Given the description of an element on the screen output the (x, y) to click on. 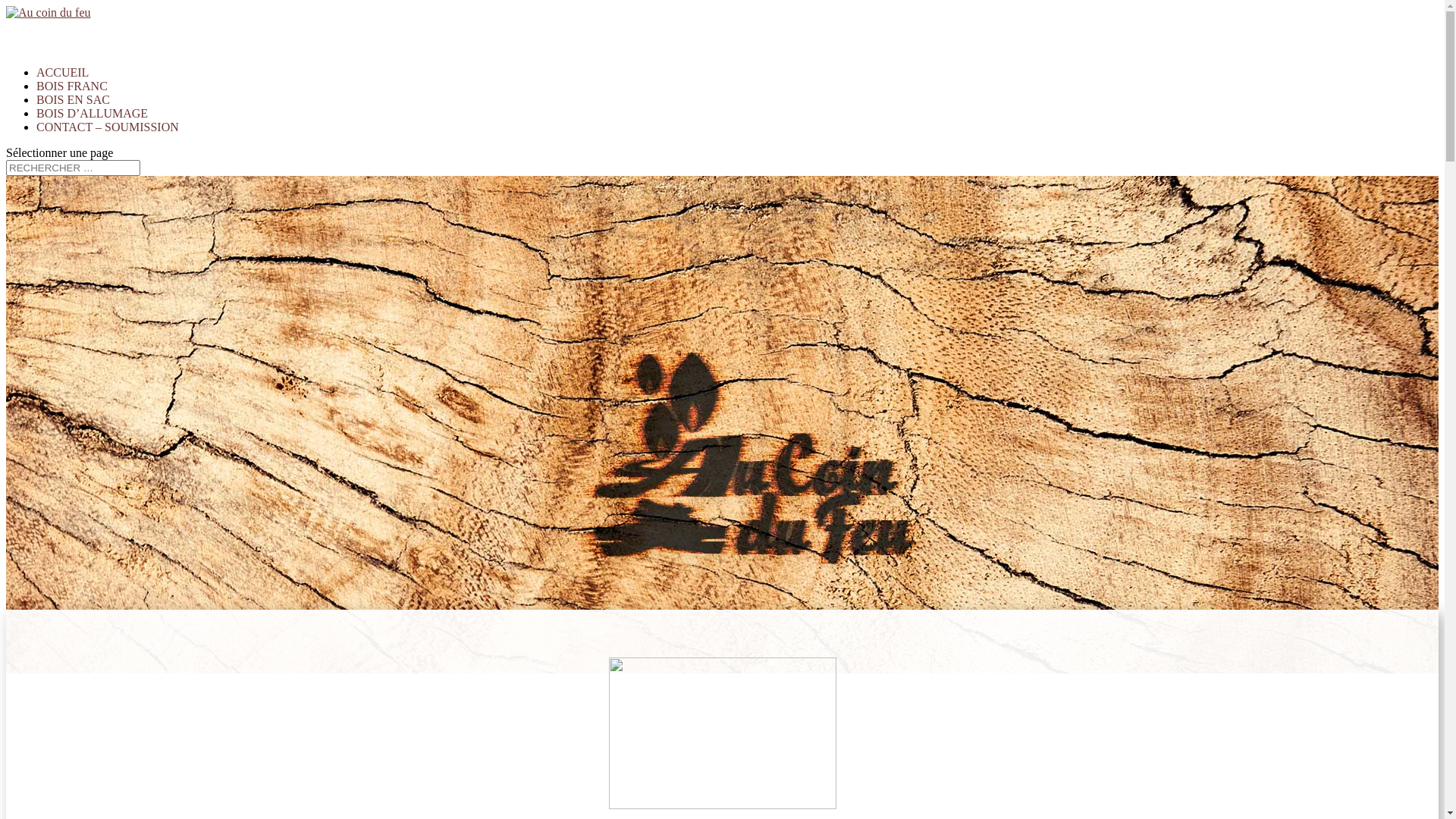
BOIS EN SAC Element type: text (72, 116)
Rechercher: Element type: hover (73, 167)
BOIS FRANC Element type: text (71, 102)
ACCUEIL Element type: text (62, 88)
